Given the description of an element on the screen output the (x, y) to click on. 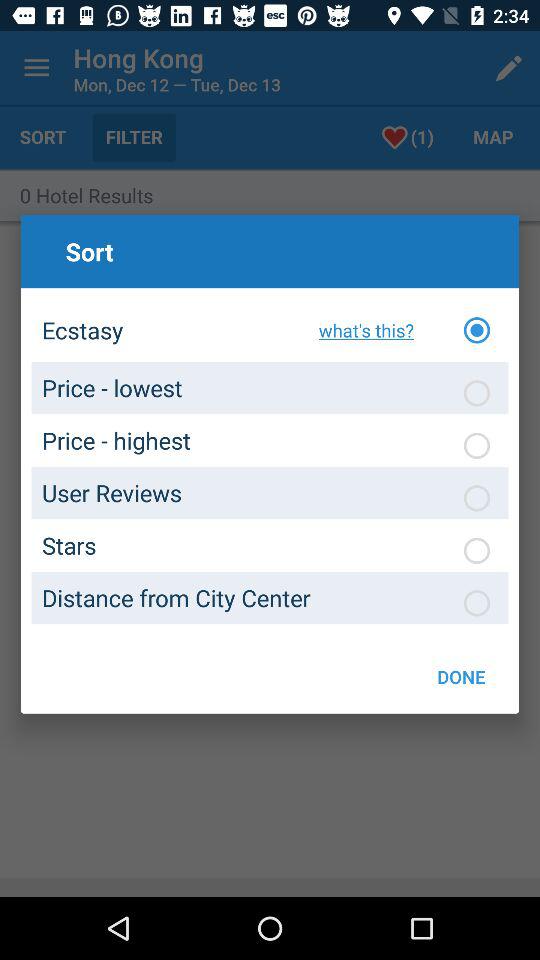
click done (461, 676)
